Given the description of an element on the screen output the (x, y) to click on. 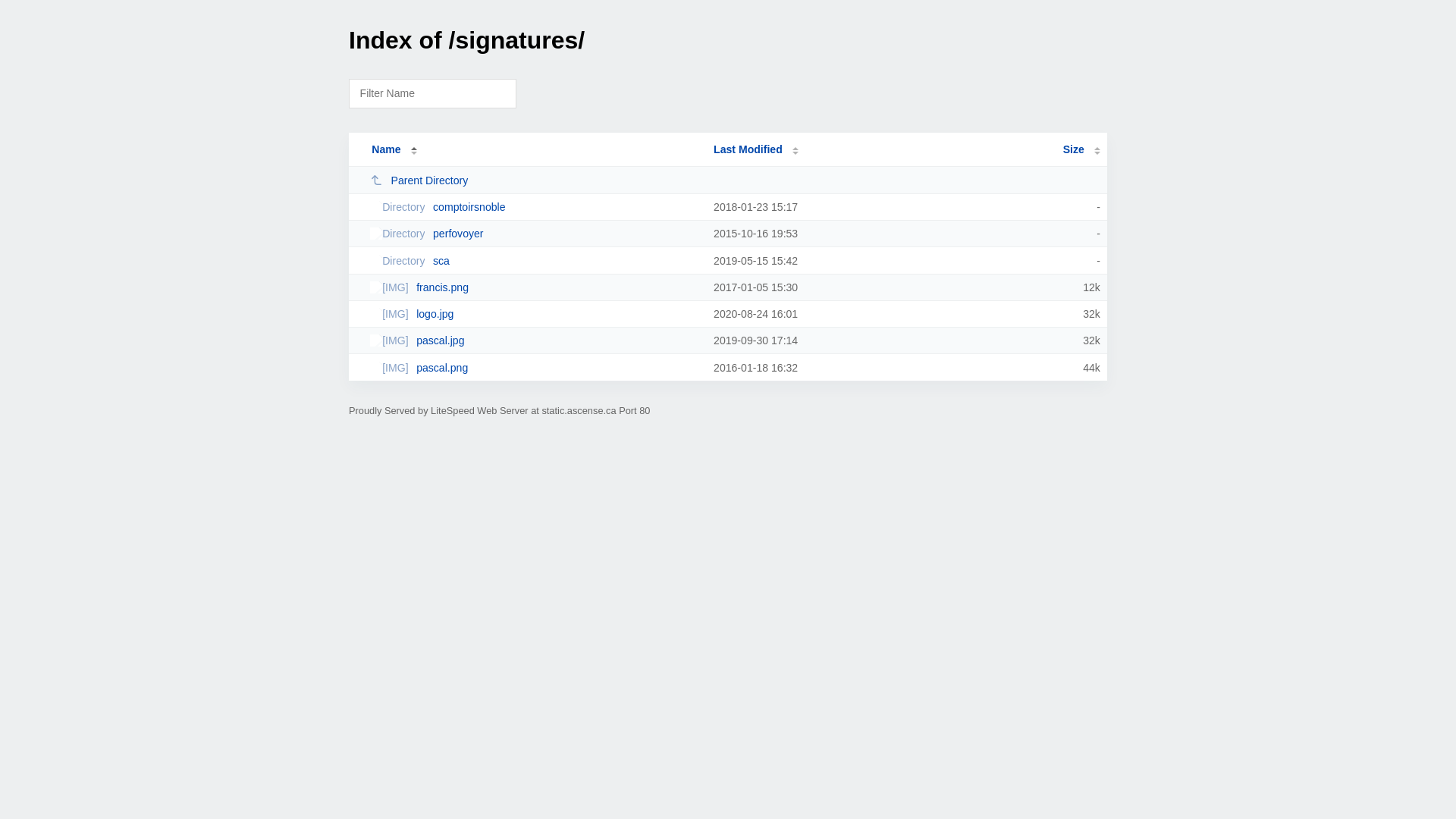
logo.jpg Element type: text (534, 313)
Name Element type: text (385, 149)
comptoirsnoble Element type: text (534, 206)
Parent Directory Element type: text (534, 179)
sca Element type: text (534, 260)
perfovoyer Element type: text (534, 233)
pascal.jpg Element type: text (534, 340)
pascal.png Element type: text (534, 367)
Last Modified Element type: text (755, 149)
francis.png Element type: text (534, 287)
Size Element type: text (1081, 149)
